Given the description of an element on the screen output the (x, y) to click on. 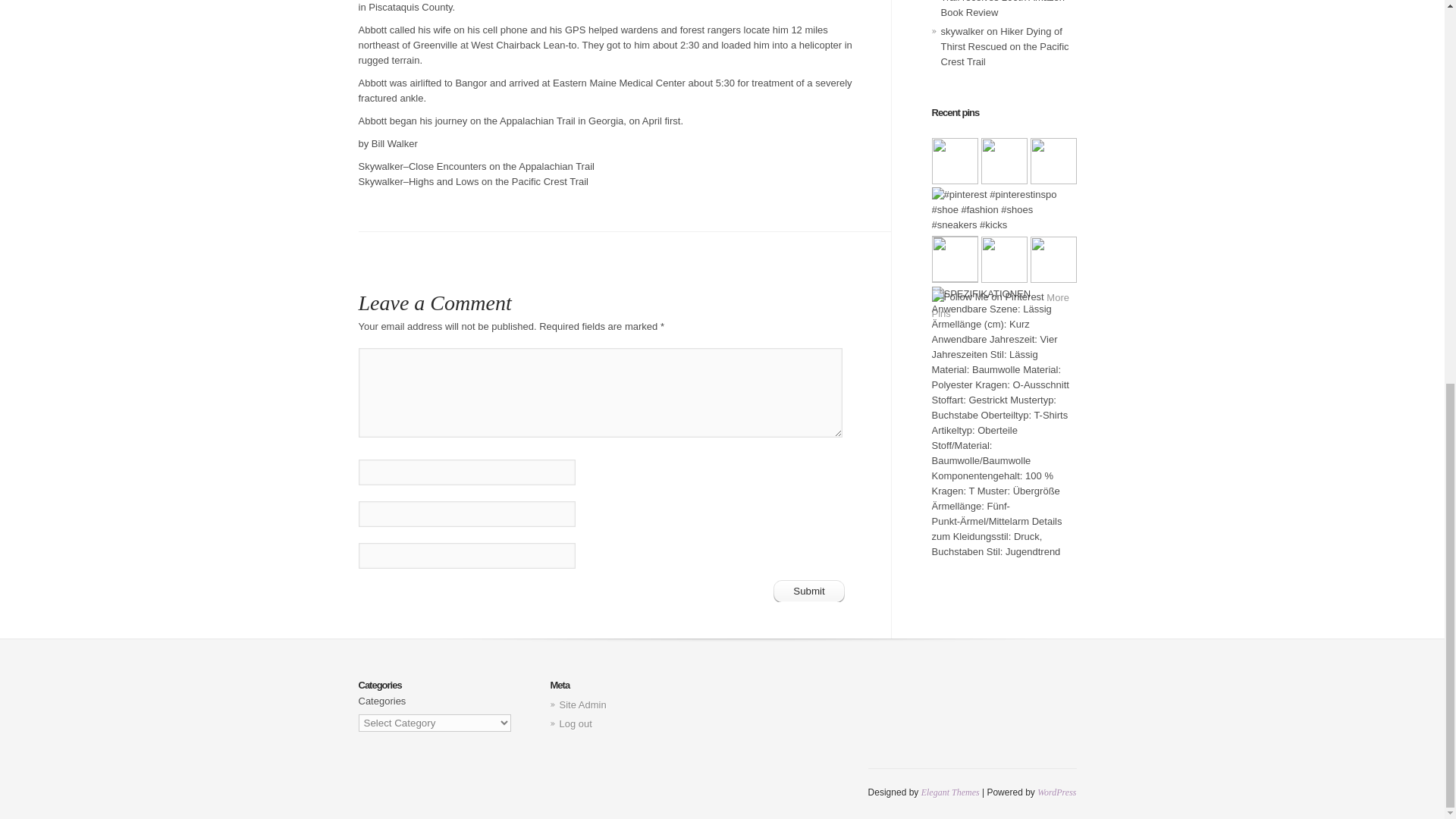
Submit (809, 590)
Premium WordPress Themes (950, 792)
Submit (809, 590)
Hiker Dying of Thirst Rescued on the Pacific Crest Trail (1004, 46)
